Given the description of an element on the screen output the (x, y) to click on. 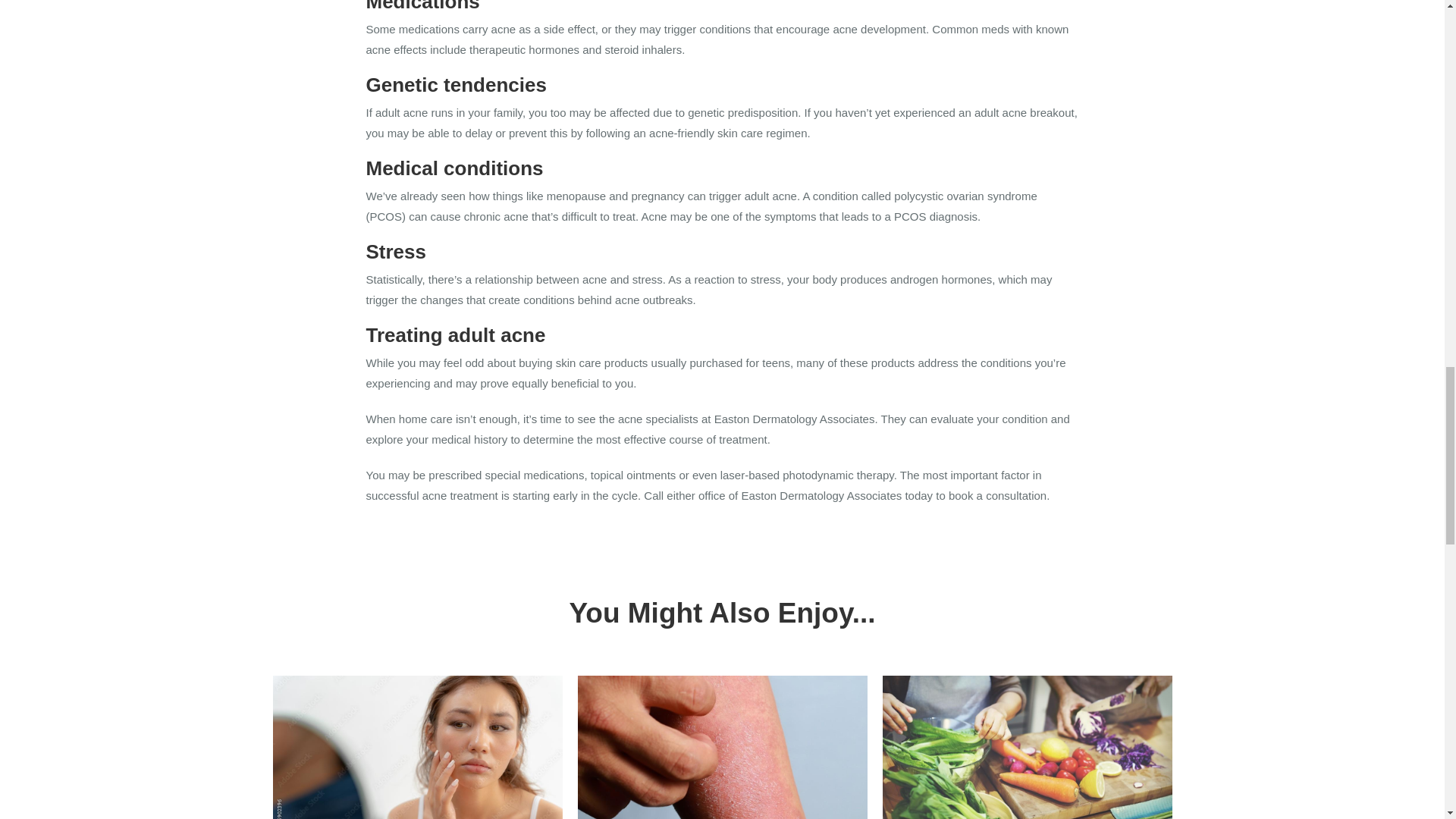
Does Psoriasis Get Better with Age? (722, 747)
7 Lifestyle Habits to Help Minimize Rosacea Flares (417, 747)
The Link Between Nutrition and Skincare (1027, 747)
